Given the description of an element on the screen output the (x, y) to click on. 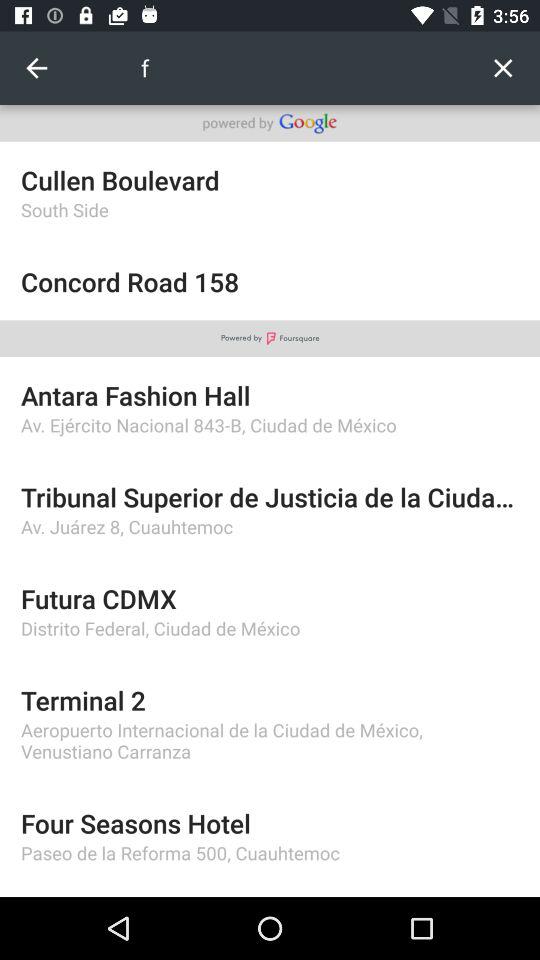
launch the item to the right of f icon (502, 67)
